Given the description of an element on the screen output the (x, y) to click on. 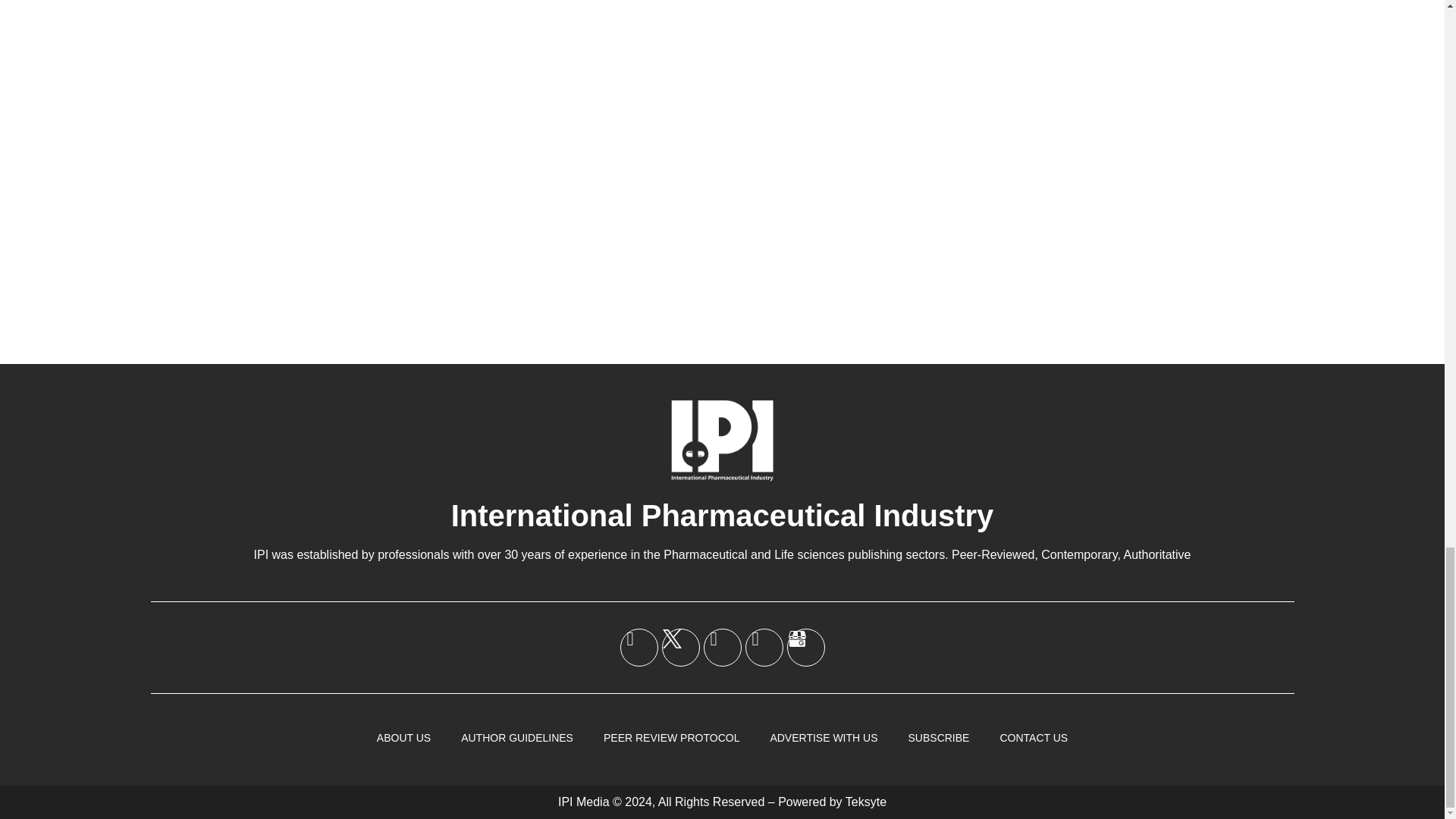
logo-ipi-w.png (721, 439)
Web design services (865, 801)
